Given the description of an element on the screen output the (x, y) to click on. 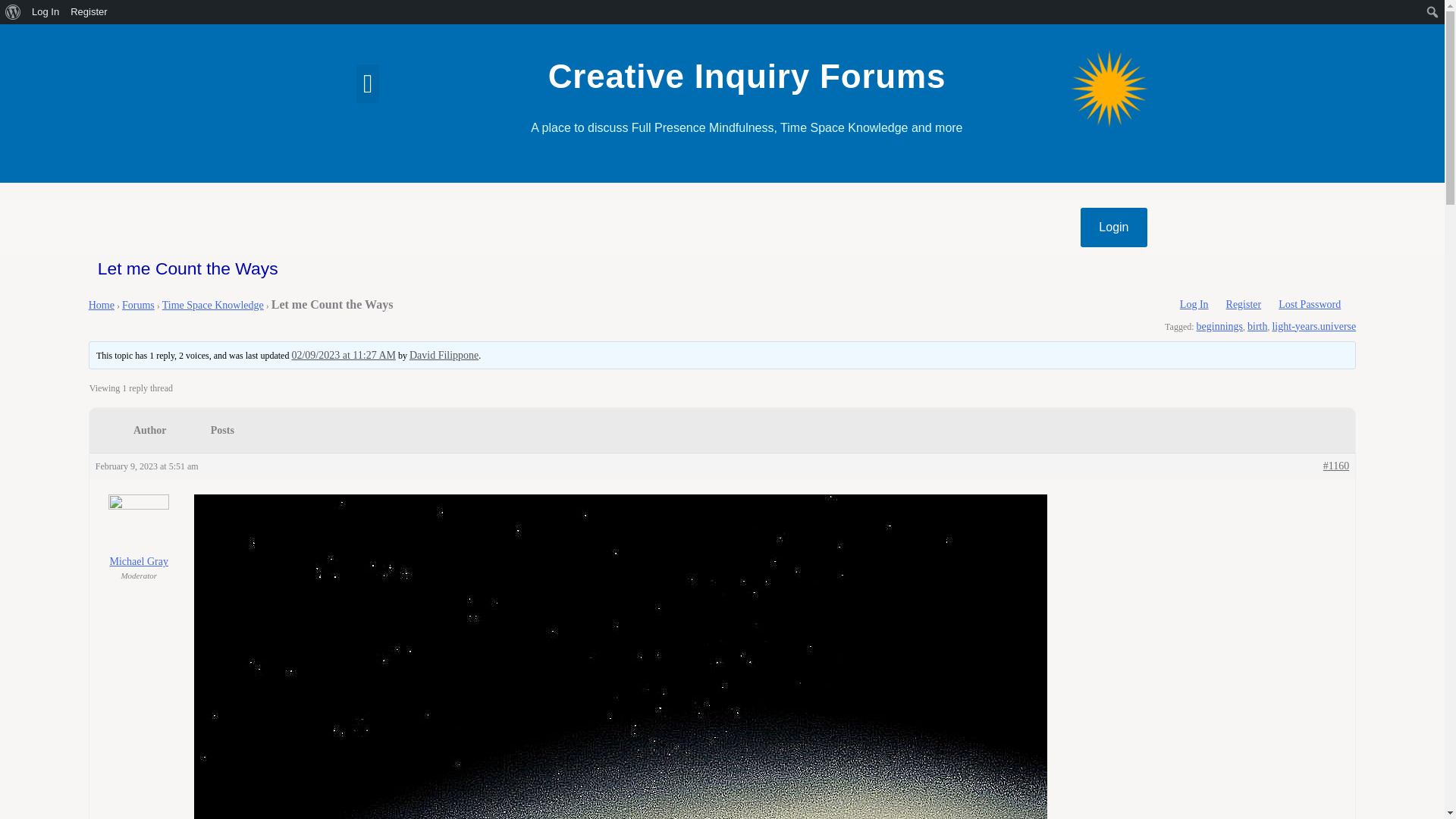
light-years.universe (1313, 326)
View Michael Gray's profile (139, 531)
Forums (138, 305)
Home (101, 305)
Michael Gray (139, 531)
View David Filippone's profile (444, 355)
Login (1113, 227)
Lost Password (1309, 304)
birth (1256, 326)
David Filippone (444, 355)
